Given the description of an element on the screen output the (x, y) to click on. 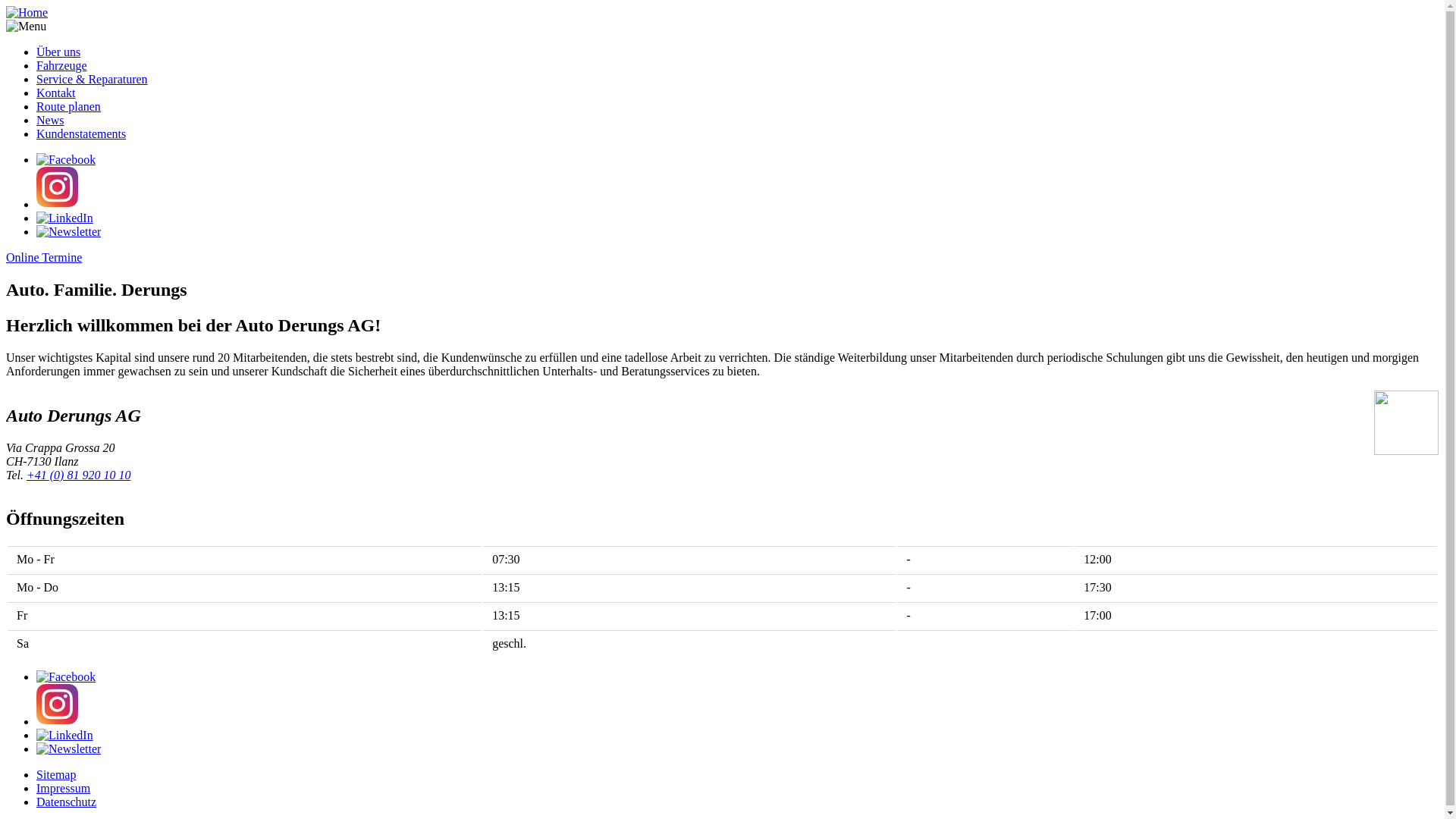
Fahrzeuge Element type: text (61, 65)
Service & Reparaturen Element type: text (91, 78)
Online Termine Element type: text (43, 257)
Sitemap Element type: text (55, 774)
Kontakt Element type: text (55, 92)
Route planen Element type: text (68, 106)
News Element type: text (49, 119)
Kundenstatements Element type: text (80, 133)
Datenschutz Element type: text (66, 801)
Impressum Element type: text (63, 787)
+41 (0) 81 920 10 10 Element type: text (78, 474)
